Given the description of an element on the screen output the (x, y) to click on. 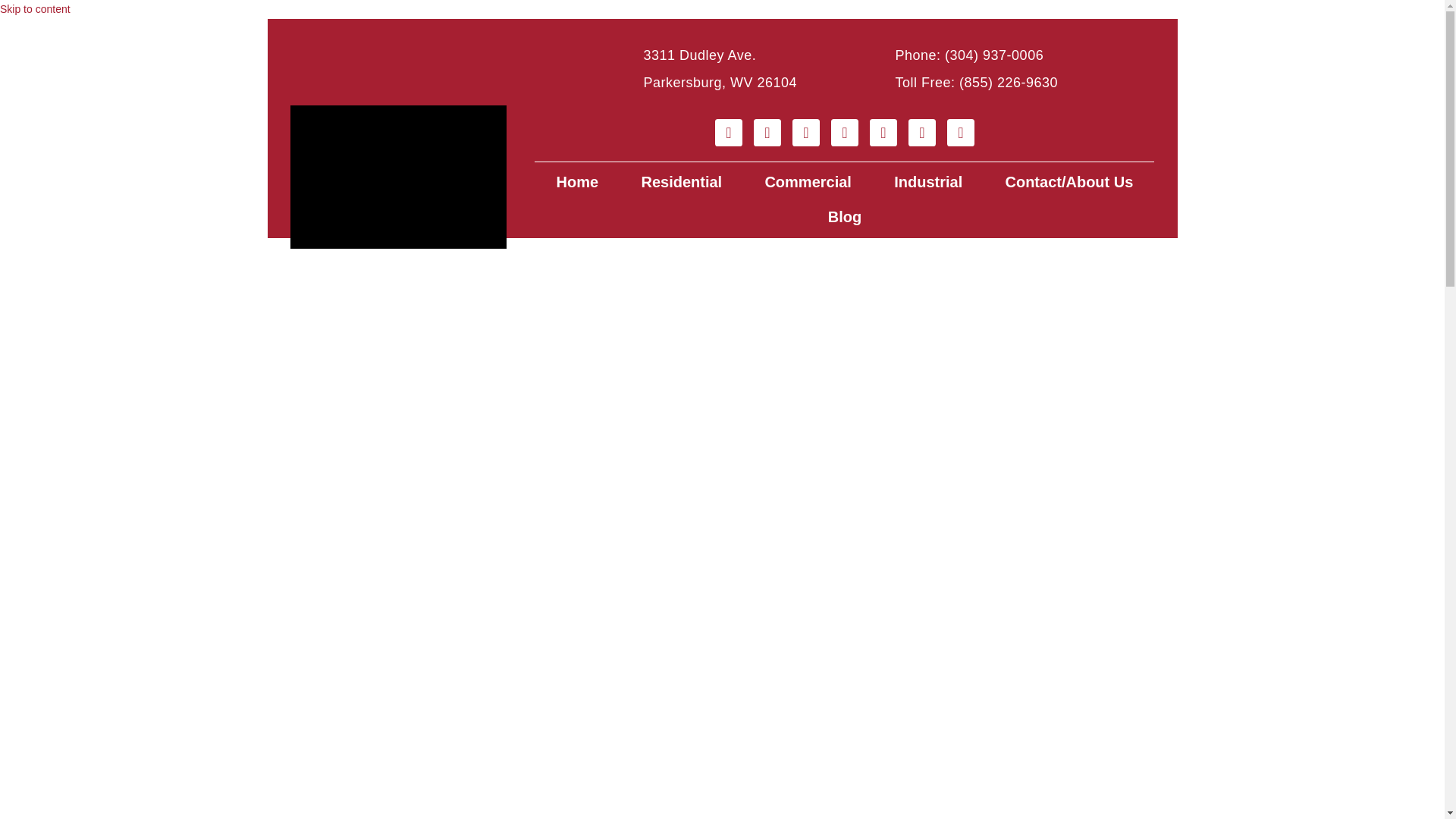
Industrial (928, 181)
Skip to content (34, 9)
Residential (681, 181)
Home (577, 181)
Commercial (807, 181)
